Given the description of an element on the screen output the (x, y) to click on. 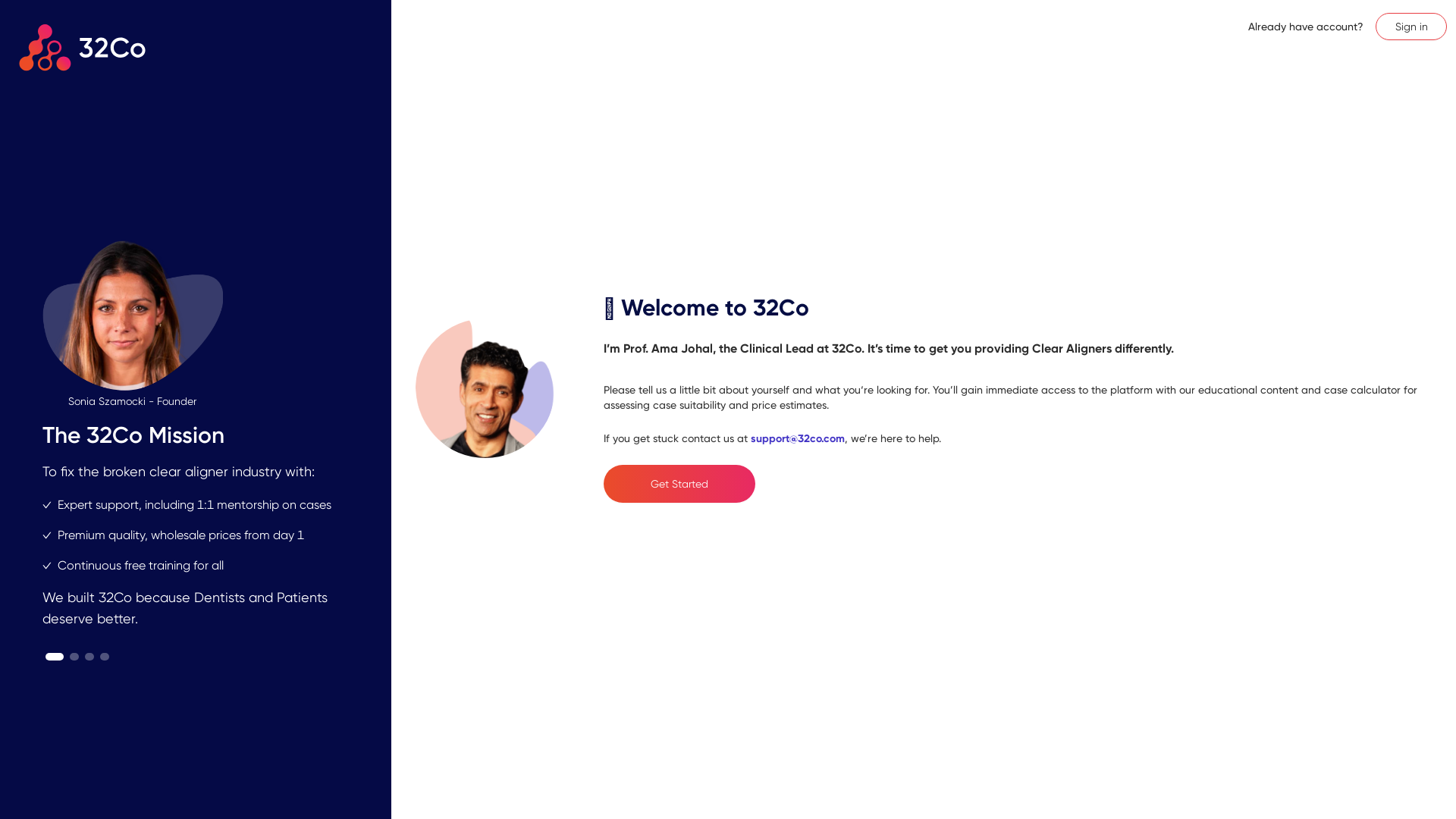
Get Started Element type: text (679, 483)
2 Element type: text (73, 655)
Sign in Element type: text (1410, 26)
support@32co.com Element type: text (797, 438)
3 Element type: text (88, 655)
4 Element type: text (104, 655)
1 Element type: text (53, 655)
